Given the description of an element on the screen output the (x, y) to click on. 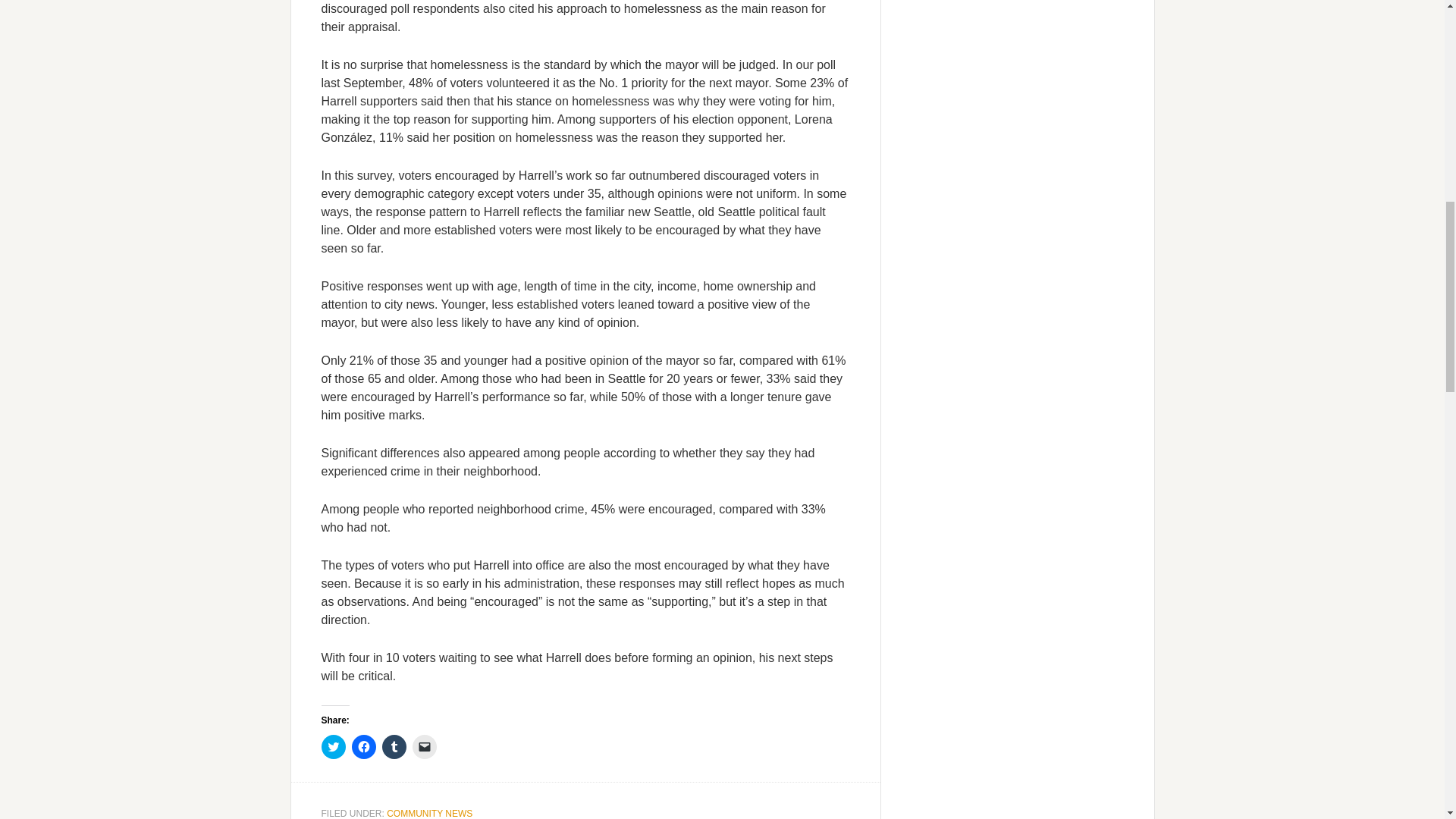
Click to email a link to a friend (424, 746)
Click to share on Facebook (363, 746)
Click to share on Twitter (333, 746)
Click to share on Tumblr (393, 746)
